Given the description of an element on the screen output the (x, y) to click on. 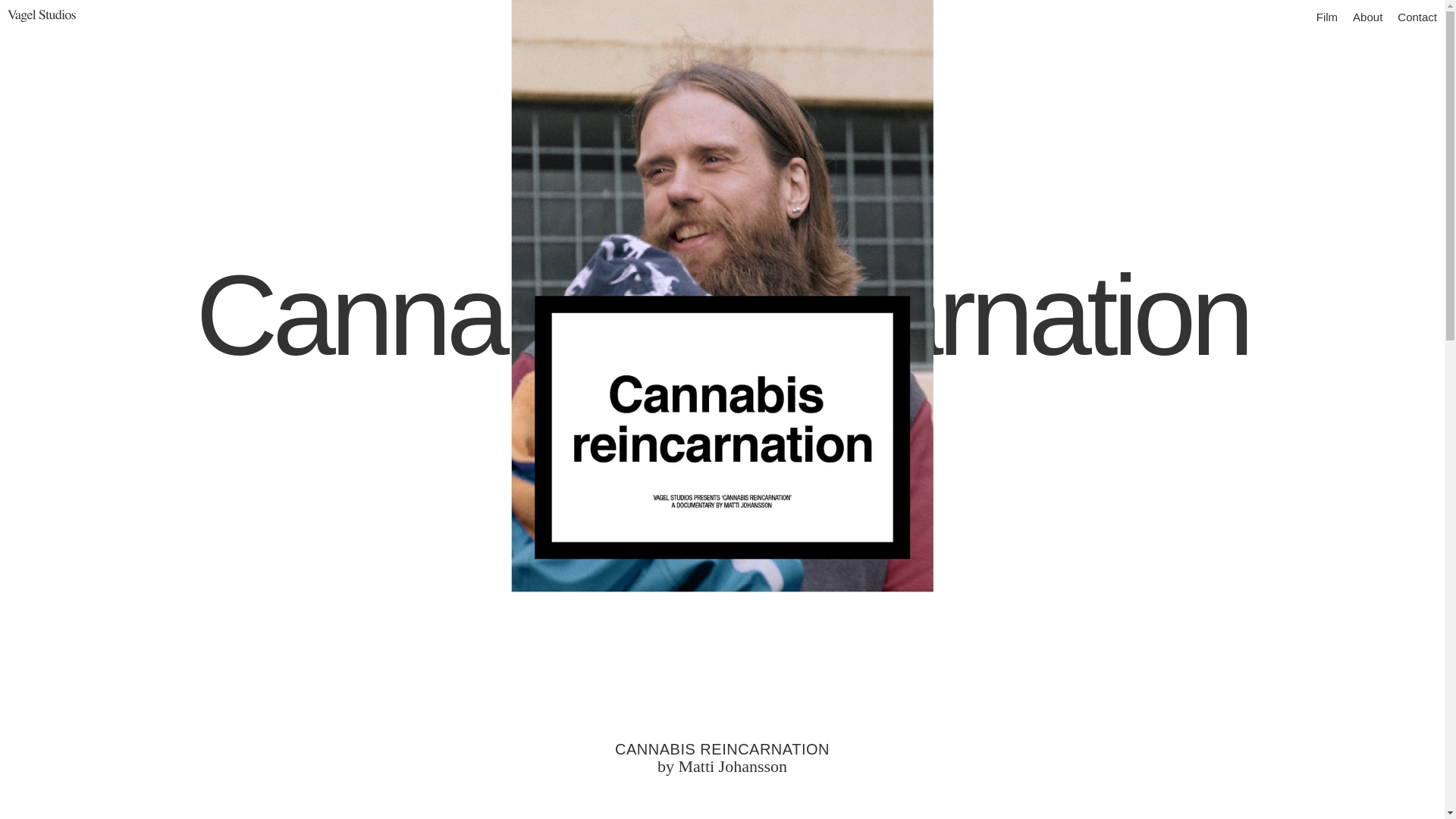
Film (1326, 15)
About (1367, 15)
